Given the description of an element on the screen output the (x, y) to click on. 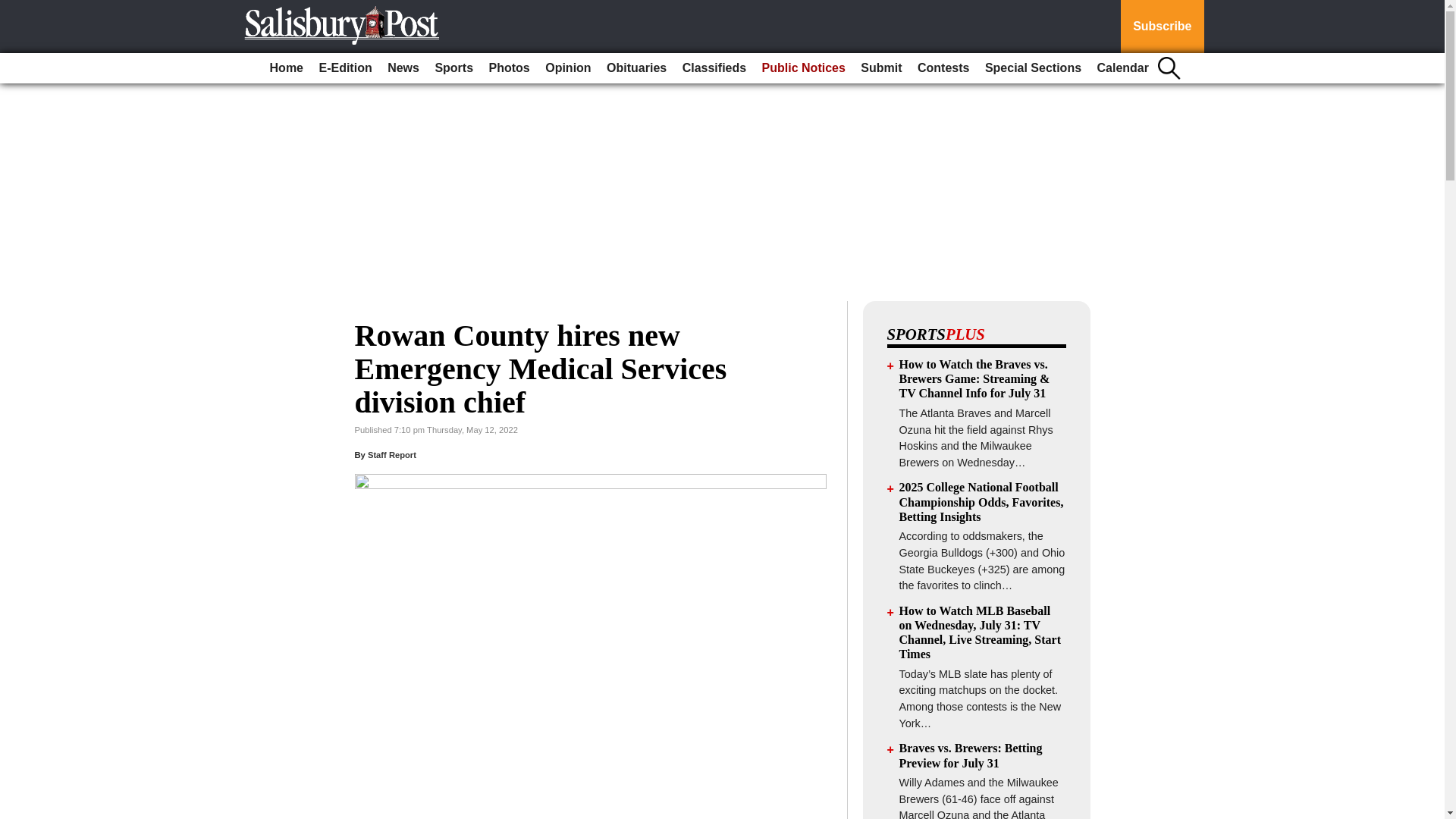
Submit (880, 68)
News (403, 68)
E-Edition (345, 68)
Opinion (567, 68)
Subscribe (1162, 26)
Obituaries (635, 68)
Public Notices (803, 68)
Sports (453, 68)
Photos (509, 68)
Classifieds (714, 68)
